Given the description of an element on the screen output the (x, y) to click on. 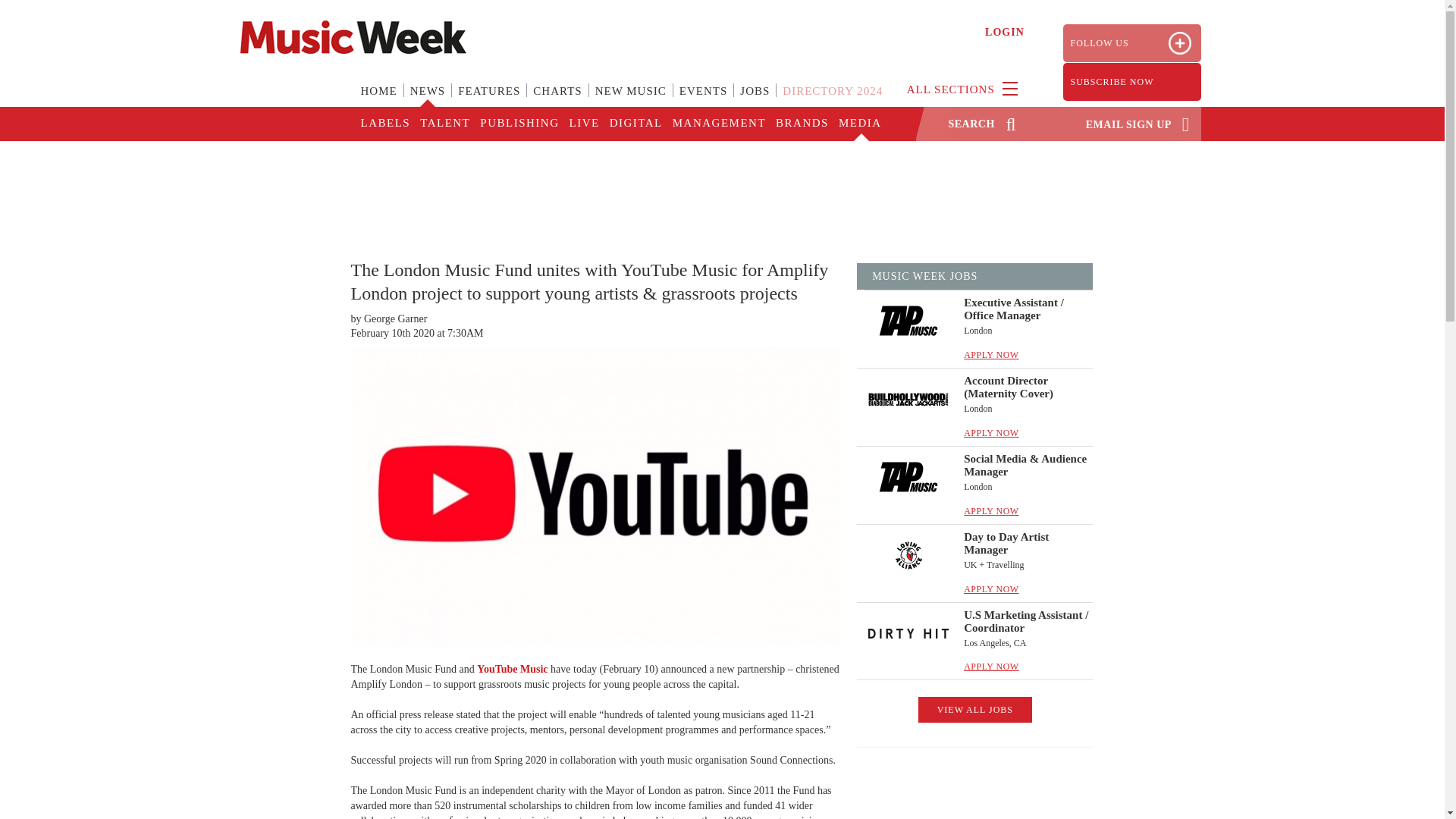
DIGITAL (635, 123)
CHARTS (557, 100)
3rd party ad content (721, 190)
MEDIA (858, 123)
EVENTS (702, 100)
NEWS (427, 100)
TALENT (443, 123)
FEATURES (488, 100)
LABELS (384, 123)
LIVE (582, 123)
LOGIN (1005, 31)
MANAGEMENT (718, 123)
